Given the description of an element on the screen output the (x, y) to click on. 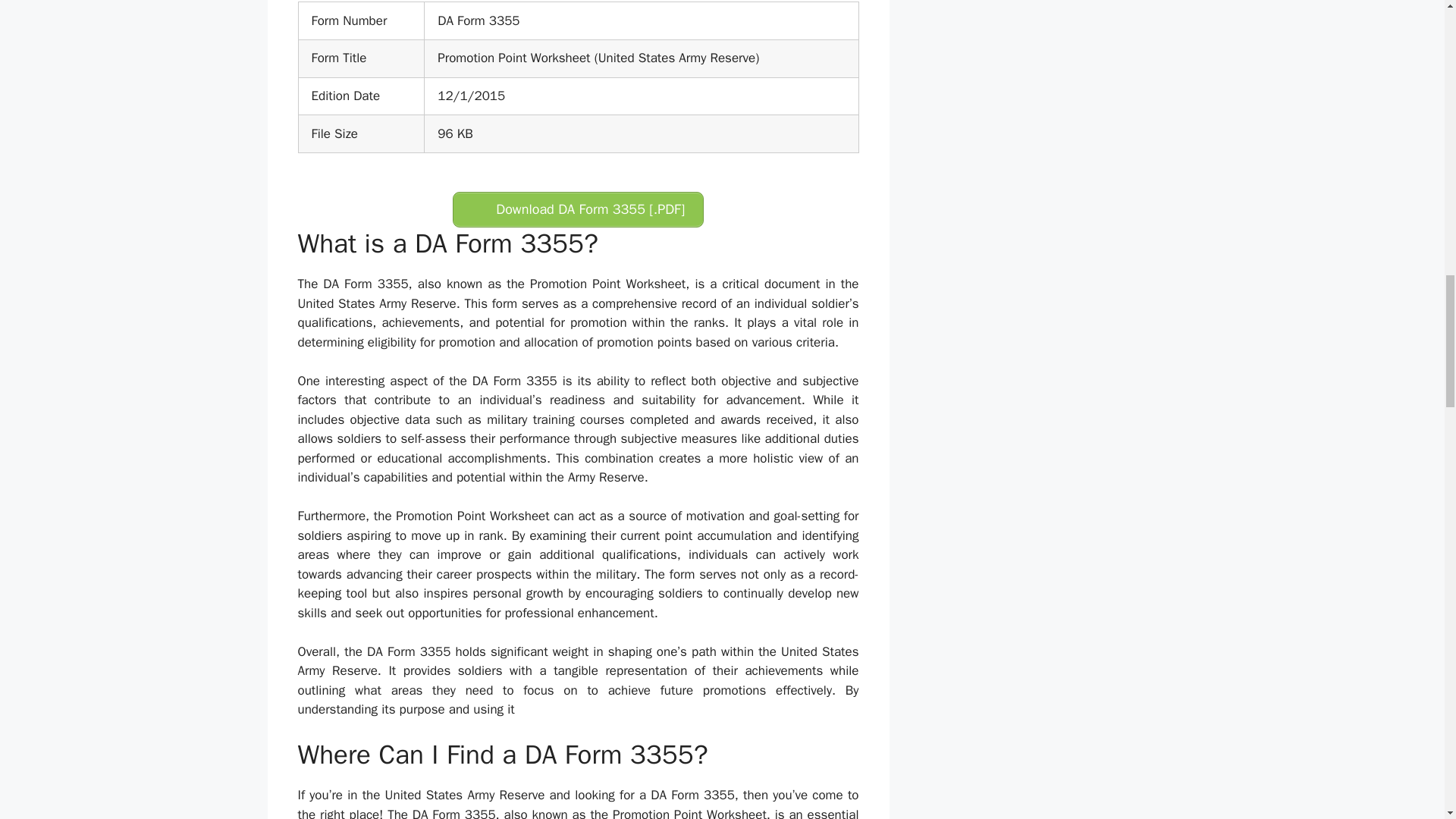
Download DA Form 3355 (577, 209)
